Given the description of an element on the screen output the (x, y) to click on. 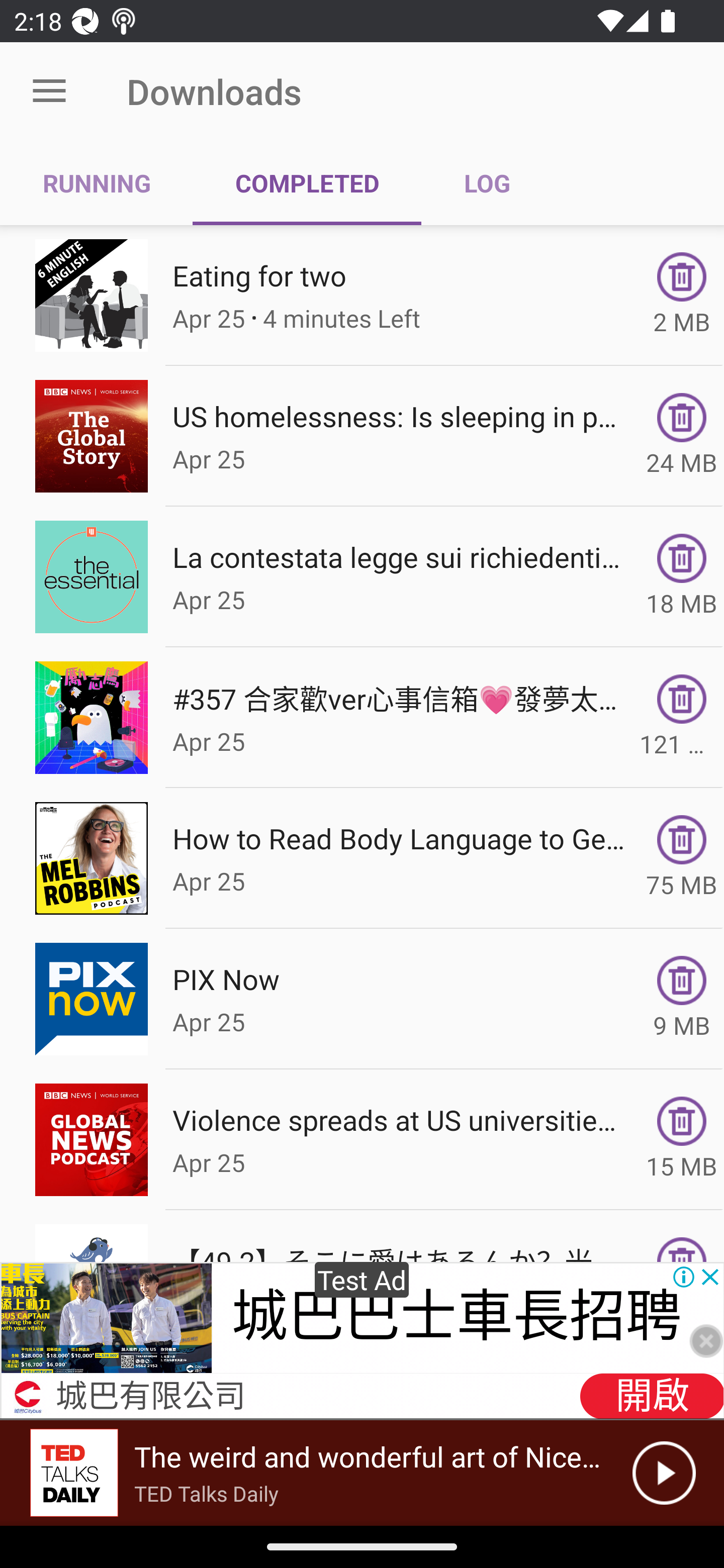
Open menu (49, 91)
RUNNING (96, 183)
COMPLETED (306, 183)
LOG (486, 183)
Remove Episode (681, 276)
Remove Episode (681, 417)
Remove Episode (681, 558)
Remove Episode (681, 699)
Remove Episode (681, 839)
Picture PIX Now Apr 25 Remove Episode 9 MB (362, 998)
Remove Episode (681, 980)
Remove Episode (681, 1121)
bc-recruitment (106, 1318)
城巴巴士車長招聘 (456, 1316)
開啟 (651, 1396)
bc-recruitment (28, 1396)
城巴有限公司 (150, 1397)
Play (663, 1472)
